Given the description of an element on the screen output the (x, y) to click on. 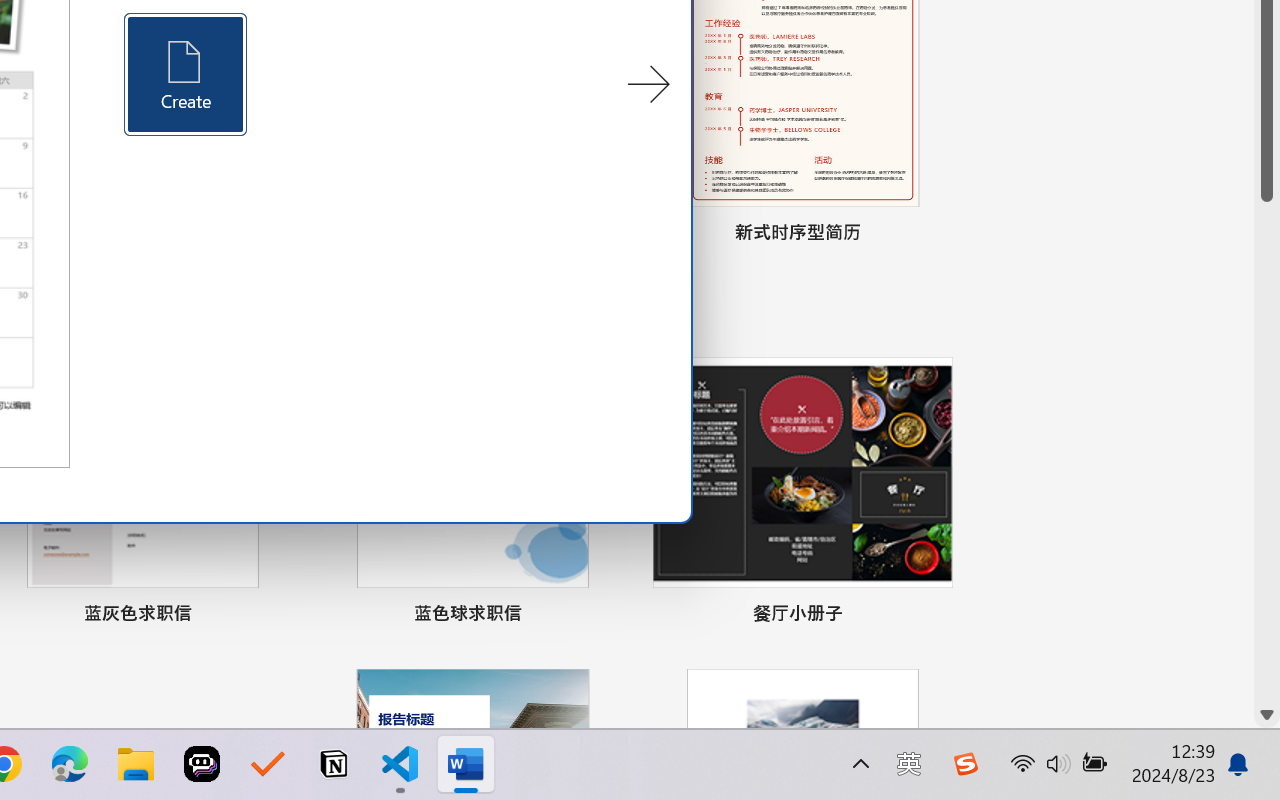
Next Template (648, 85)
Page down (1267, 451)
Microsoft Edge (69, 764)
